Given the description of an element on the screen output the (x, y) to click on. 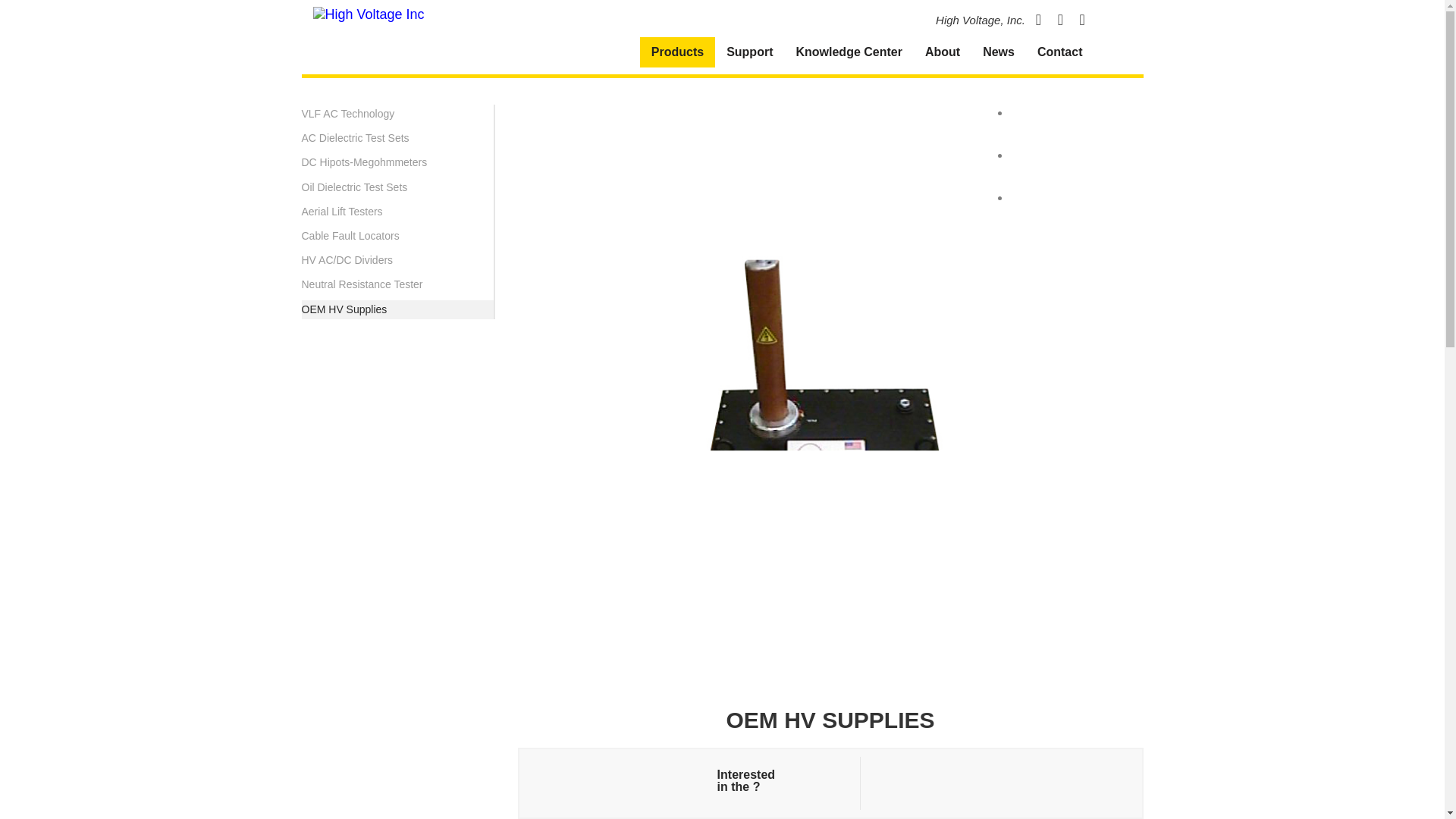
Knowledge Center (848, 51)
VLF AC Technology (347, 113)
Products (677, 51)
About (942, 51)
News (998, 51)
Search (1112, 51)
Contact (1060, 51)
Support (749, 51)
